Given the description of an element on the screen output the (x, y) to click on. 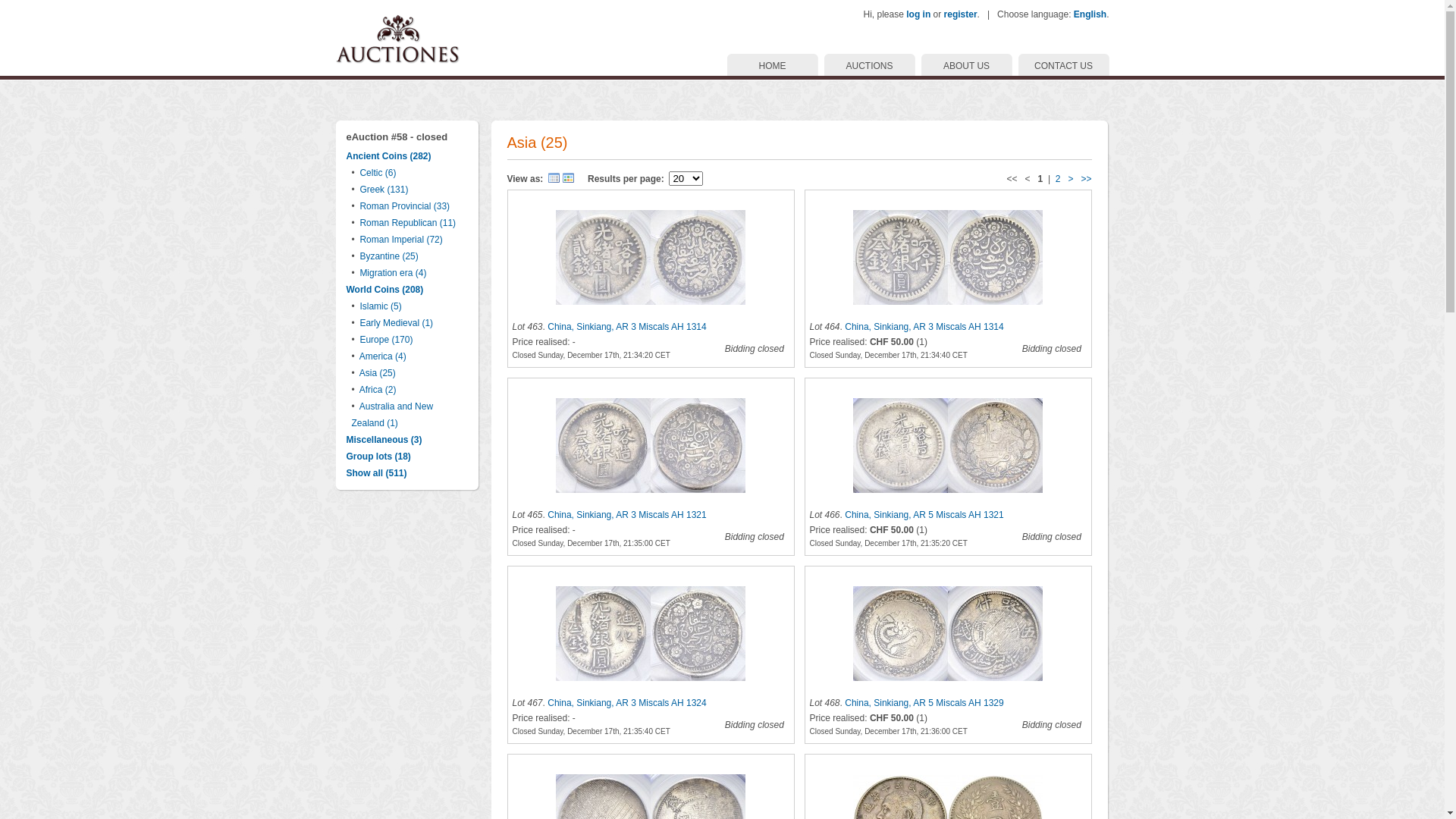
Asia (25) Element type: text (377, 372)
Islamic (5) Element type: text (380, 306)
America (4) Element type: text (382, 356)
China, Sinkiang, AR 5 Miscals AH 1321 Element type: text (923, 514)
Show all (511) Element type: text (375, 472)
AUCTIONS Element type: text (868, 64)
Group lots (18) Element type: text (377, 456)
Roman Provincial (33) Element type: text (404, 205)
Early Medieval (1) Element type: text (396, 322)
China, Sinkiang, AR 3 Miscals AH 1324 Element type: hover (650, 633)
China, Sinkiang, AR 3 Miscals AH 1321 Element type: text (626, 514)
China, Sinkiang, AR 3 Miscals AH 1314 Element type: hover (650, 257)
Roman Imperial (72) Element type: text (400, 239)
>> Element type: text (1085, 177)
Byzantine (25) Element type: text (388, 256)
Migration era (4) Element type: text (392, 272)
> Element type: text (1070, 177)
Australia and New Zealand (1) Element type: text (392, 414)
Ancient Coins (282) Element type: text (387, 155)
English Element type: text (1089, 14)
Roman Republican (11) Element type: text (407, 222)
register Element type: text (960, 14)
China, Sinkiang, AR 3 Miscals AH 1314 Element type: text (626, 326)
ABOUT US Element type: text (965, 64)
World Coins (208) Element type: text (384, 289)
China, Sinkiang, AR 3 Miscals AH 1321 Element type: hover (650, 445)
Africa (2) Element type: text (377, 389)
Gallery Element type: hover (568, 178)
China, Sinkiang, AR 3 Miscals AH 1324 Element type: text (626, 702)
China, Sinkiang, AR 5 Miscals AH 1321 Element type: hover (947, 445)
log in Element type: text (918, 14)
China, Sinkiang, AR 3 Miscals AH 1314 Element type: text (923, 326)
List Element type: hover (554, 178)
CONTACT US Element type: text (1062, 64)
Europe (170) Element type: text (385, 339)
Celtic (6) Element type: text (377, 172)
China, Sinkiang, AR 3 Miscals AH 1314 Element type: hover (947, 257)
China, Sinkiang, AR 5 Miscals AH 1329 Element type: hover (947, 633)
HOME Element type: text (771, 64)
China, Sinkiang, AR 5 Miscals AH 1329 Element type: text (923, 702)
Greek (131) Element type: text (383, 189)
2 Element type: text (1057, 177)
Miscellaneous (3) Element type: text (383, 439)
